Given the description of an element on the screen output the (x, y) to click on. 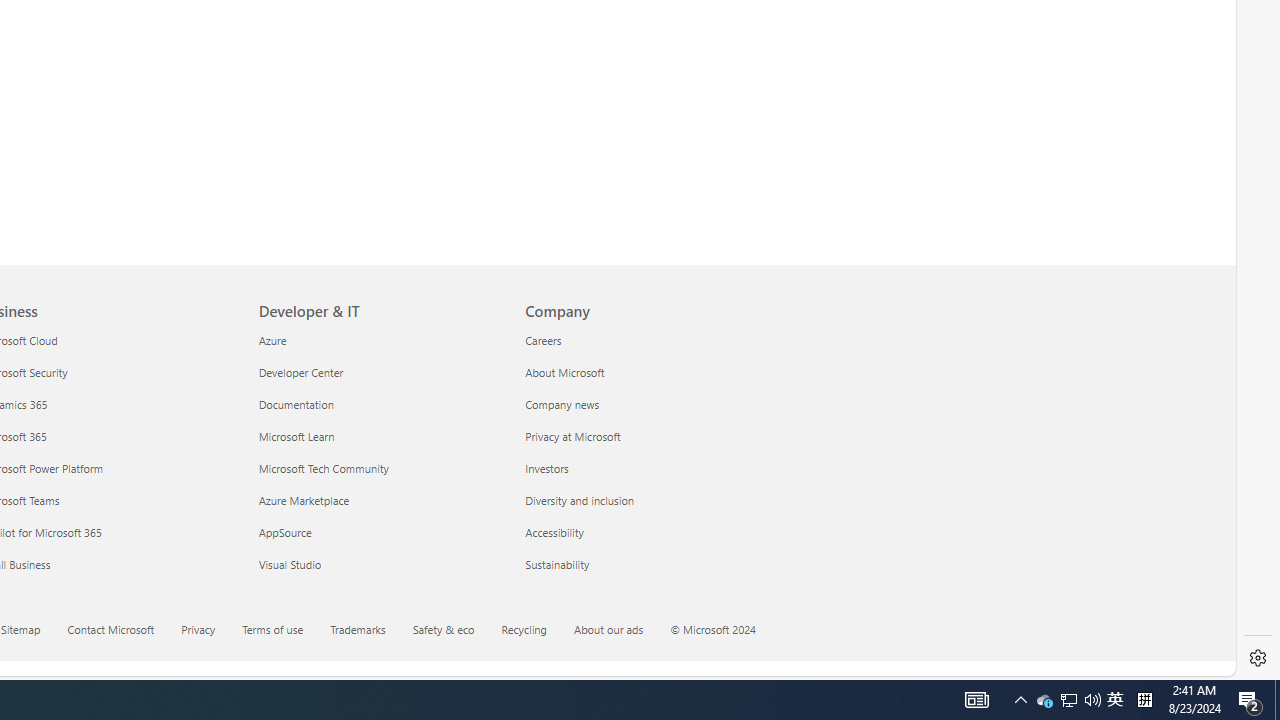
Safety & eco (443, 628)
Microsoft Learn Developer & IT (296, 435)
Company news Company (562, 403)
Azure (379, 340)
Documentation Developer & IT (296, 403)
Developer Center Developer & IT (301, 372)
About our ads (608, 628)
Accessibility (646, 532)
Careers Company (542, 339)
AppSource (379, 532)
Visual Studio (379, 564)
Azure Marketplace (379, 499)
AppSource Developer & IT (285, 532)
Contact Microsoft (110, 628)
